Given the description of an element on the screen output the (x, y) to click on. 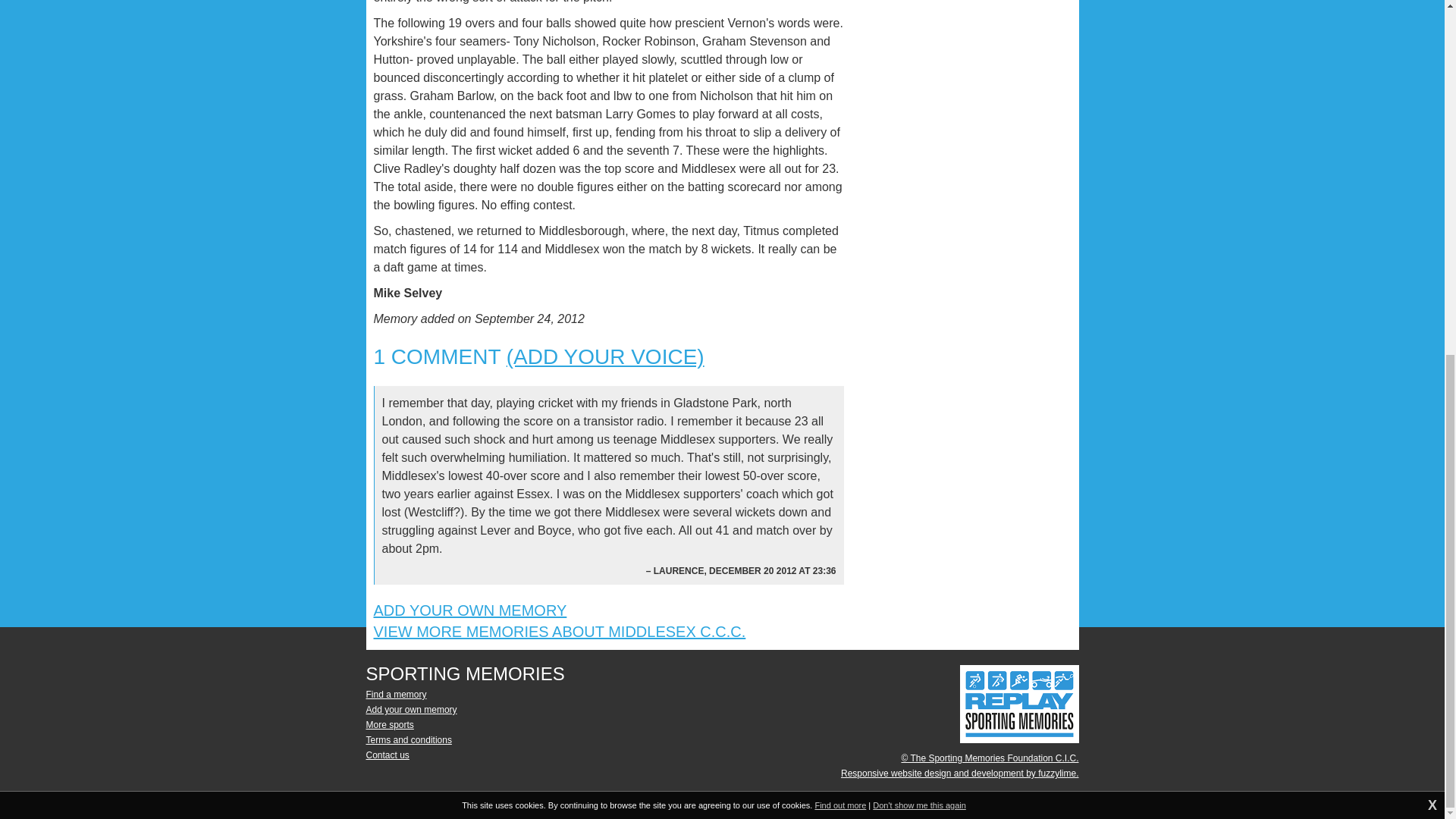
ADD YOUR OWN MEMORY (469, 610)
Contact us (387, 755)
Terms and conditions (408, 739)
Add your own memory (411, 709)
VIEW MORE MEMORIES ABOUT MIDDLESEX C.C.C. (558, 631)
Responsive website design and development by fuzzylime. (959, 773)
Find a memory (395, 694)
More sports (389, 724)
